Given the description of an element on the screen output the (x, y) to click on. 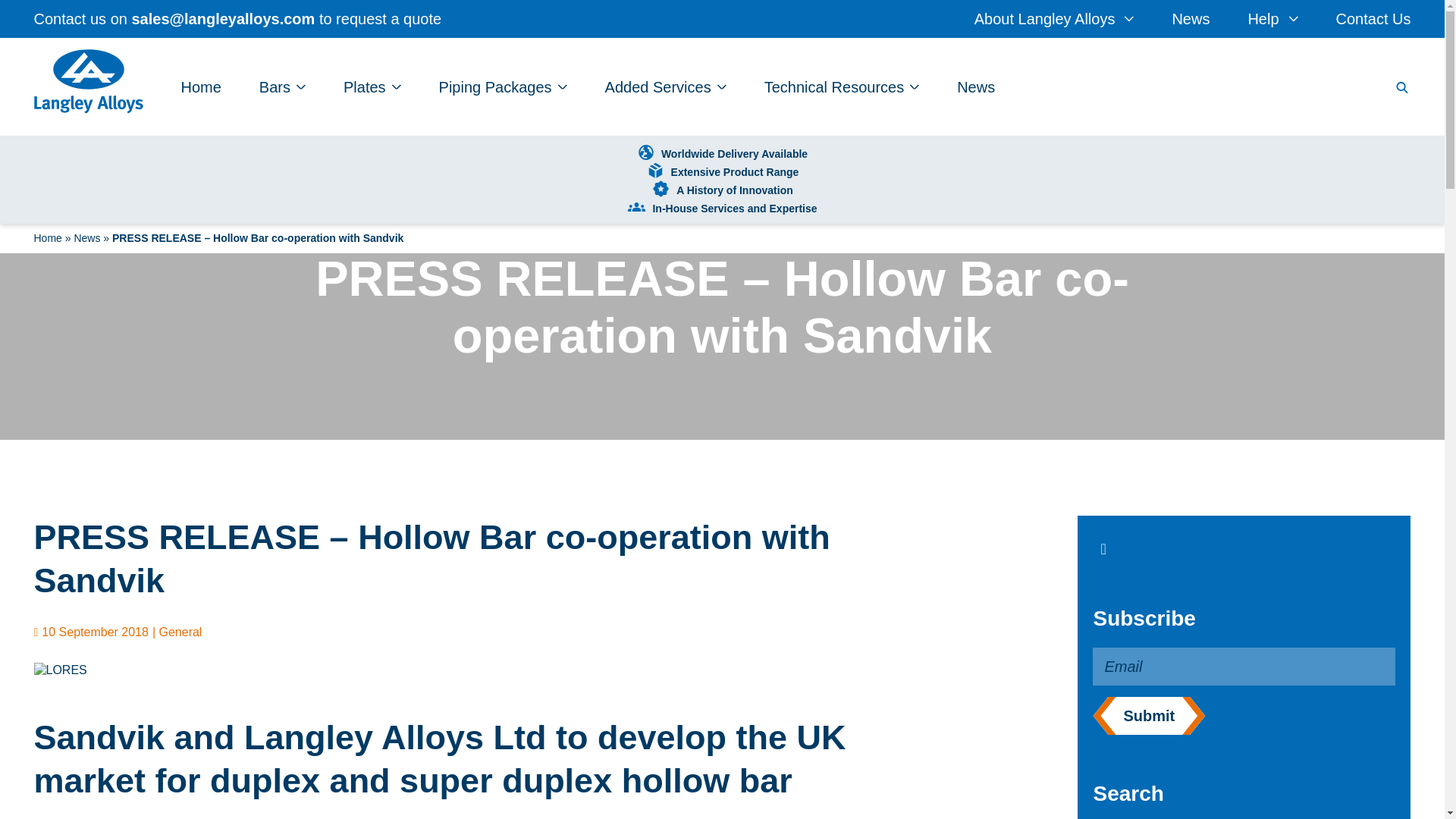
News (1190, 18)
Home (200, 86)
Help (1272, 18)
Bars (282, 86)
About Langley Alloys (1054, 18)
Return to homepage (87, 84)
Contact Us (1373, 18)
